Given the description of an element on the screen output the (x, y) to click on. 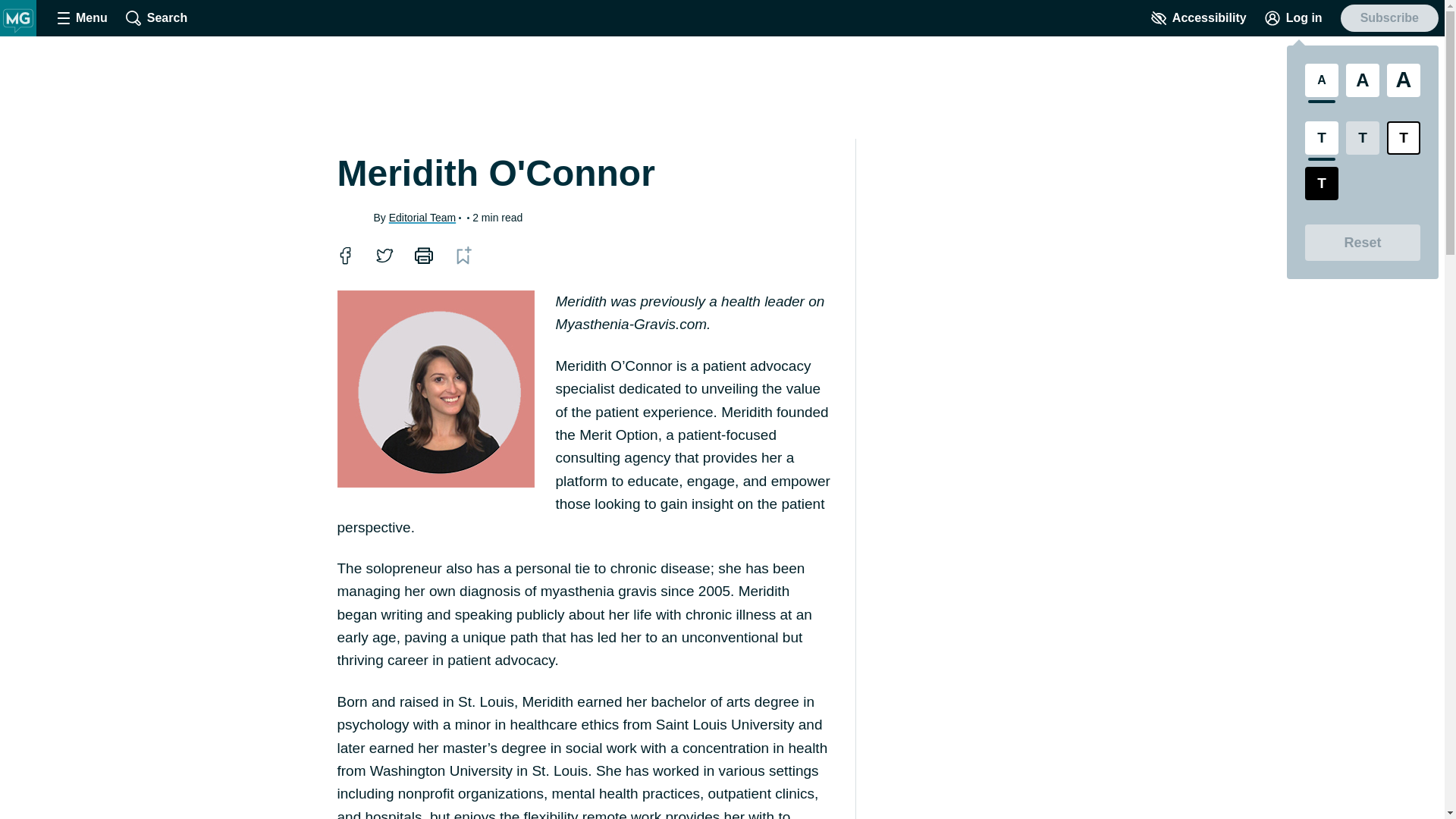
A (1361, 80)
Share to Twitter (383, 255)
Search (156, 18)
T (1321, 183)
Bookmark for later (461, 255)
print page (422, 255)
T (1361, 137)
T (1321, 137)
Share to Twitter (383, 255)
Editorial Team (421, 216)
